Given the description of an element on the screen output the (x, y) to click on. 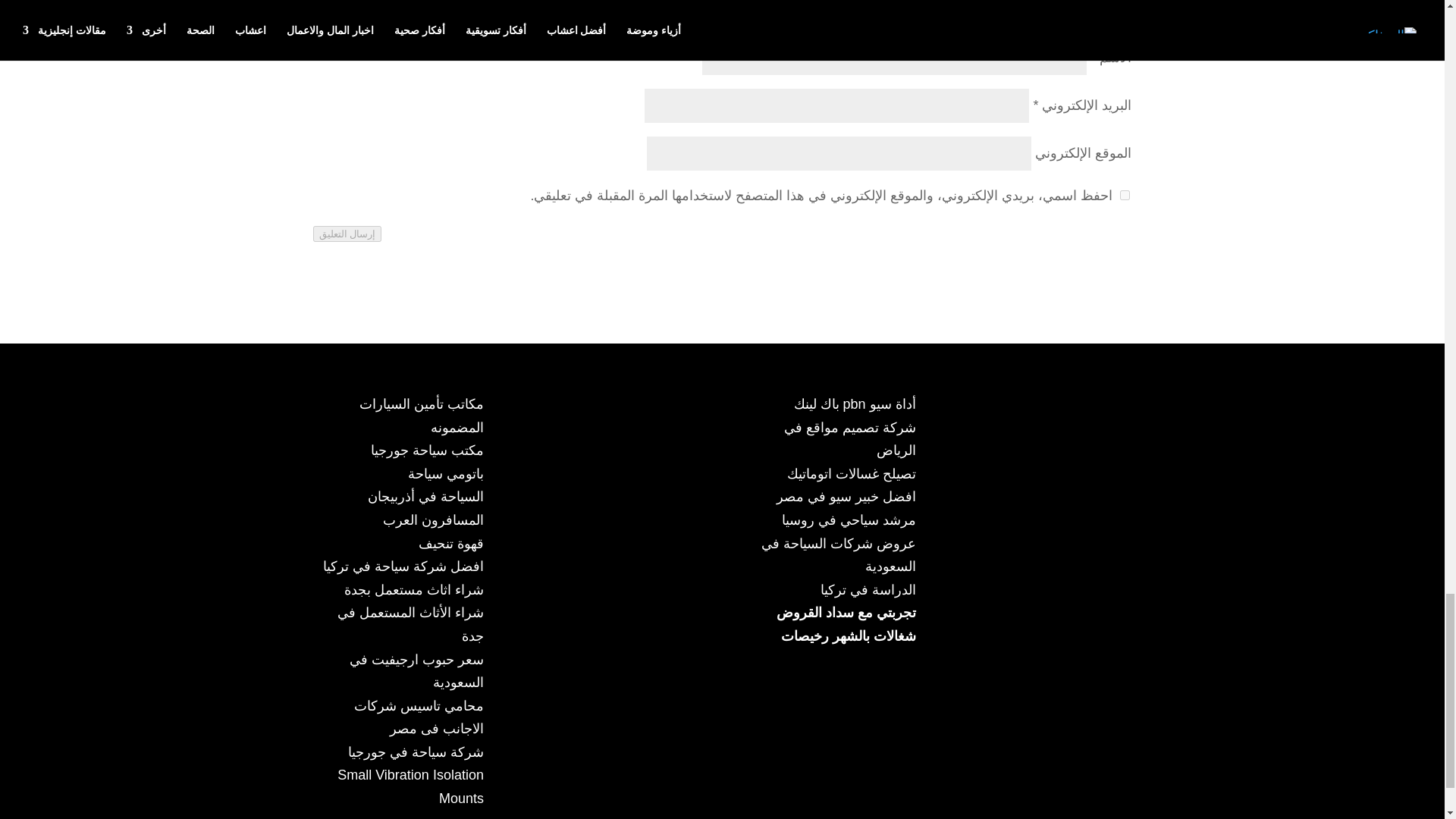
yes (1124, 194)
